Given the description of an element on the screen output the (x, y) to click on. 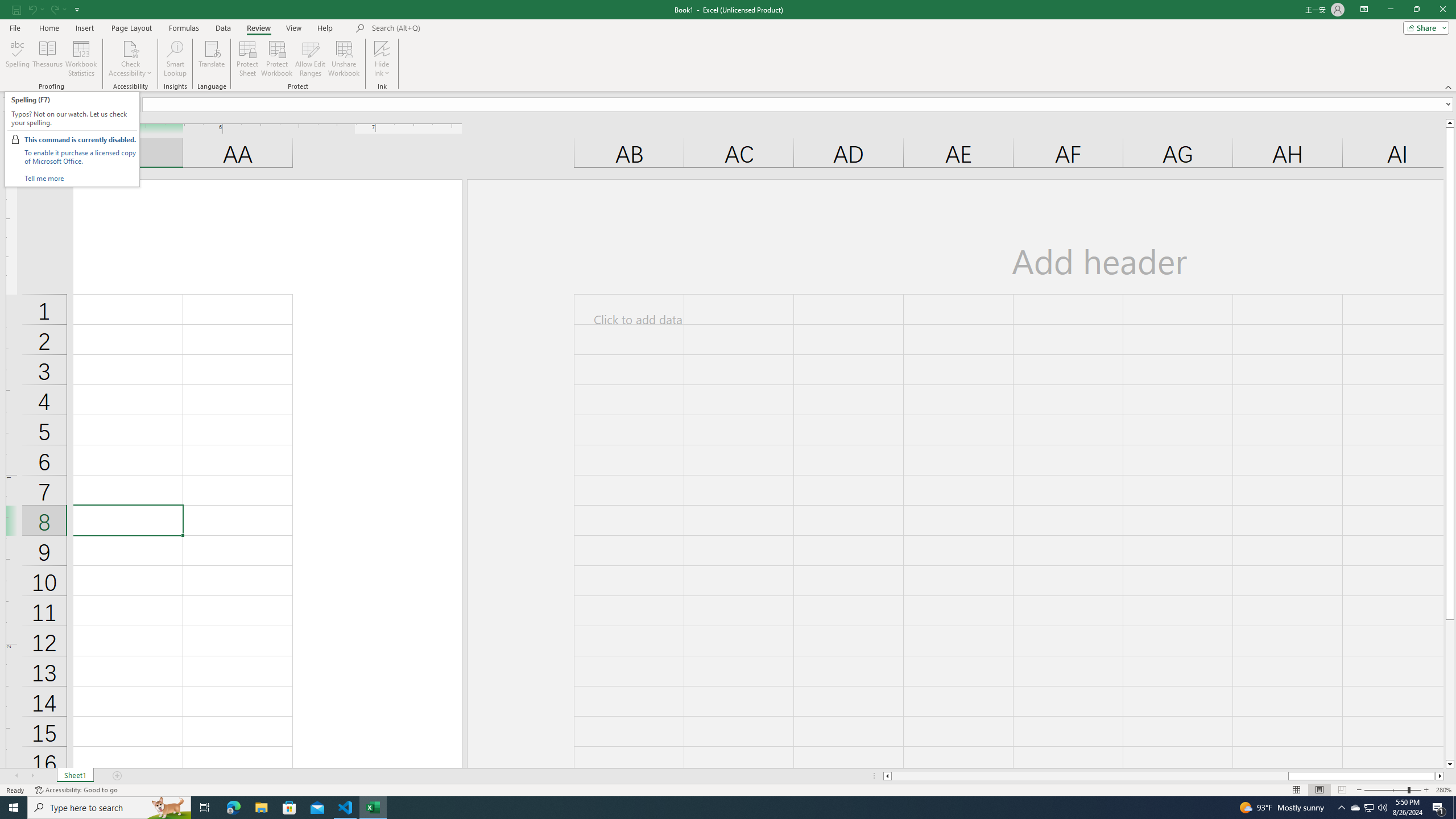
Workbook Statistics (81, 58)
Thesaurus... (47, 58)
Spelling... (17, 58)
